Given the description of an element on the screen output the (x, y) to click on. 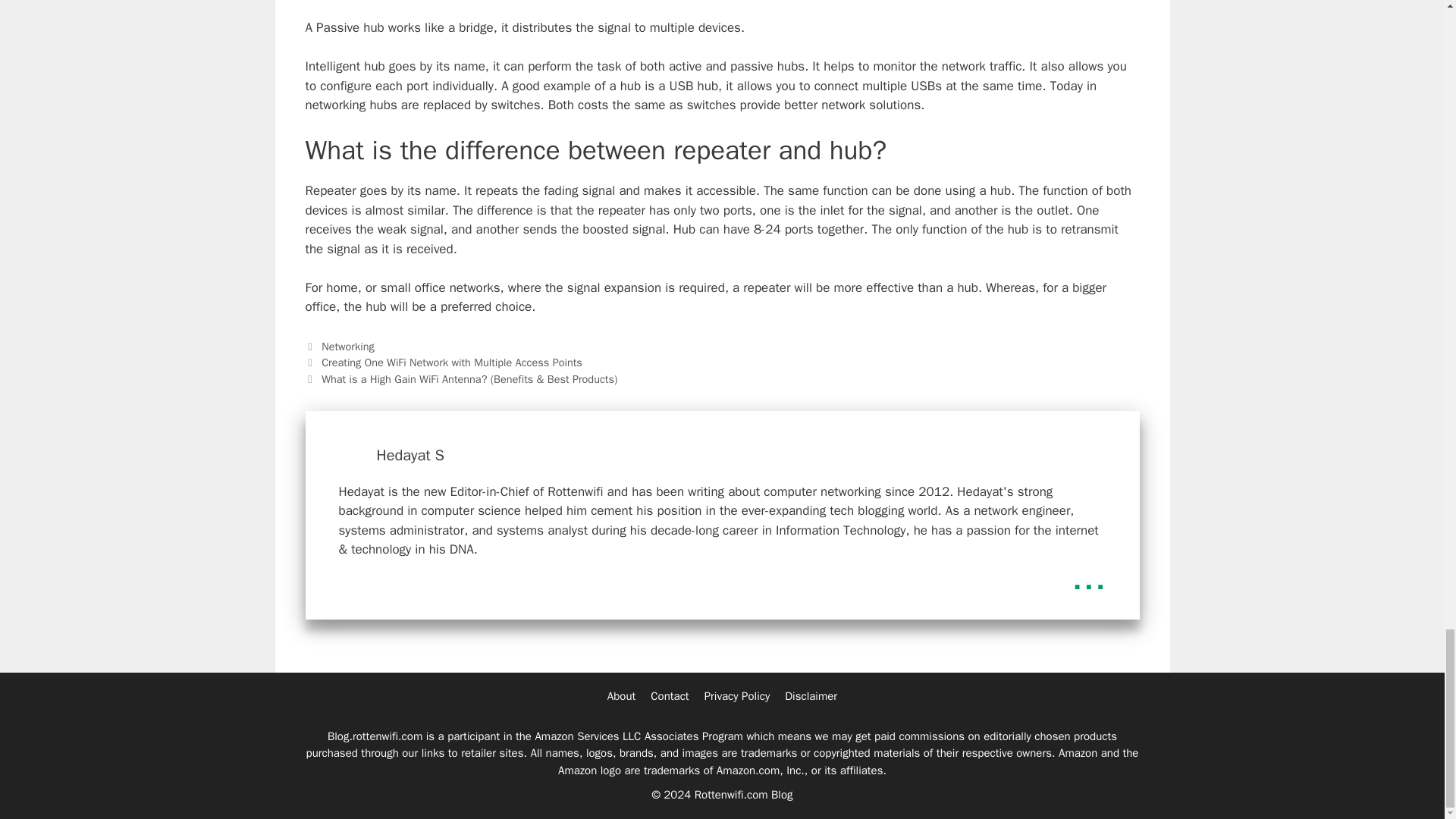
... (1088, 577)
About (620, 695)
Creating One WiFi Network with Multiple Access Points (451, 362)
Networking (347, 345)
Read more (1088, 577)
